Given the description of an element on the screen output the (x, y) to click on. 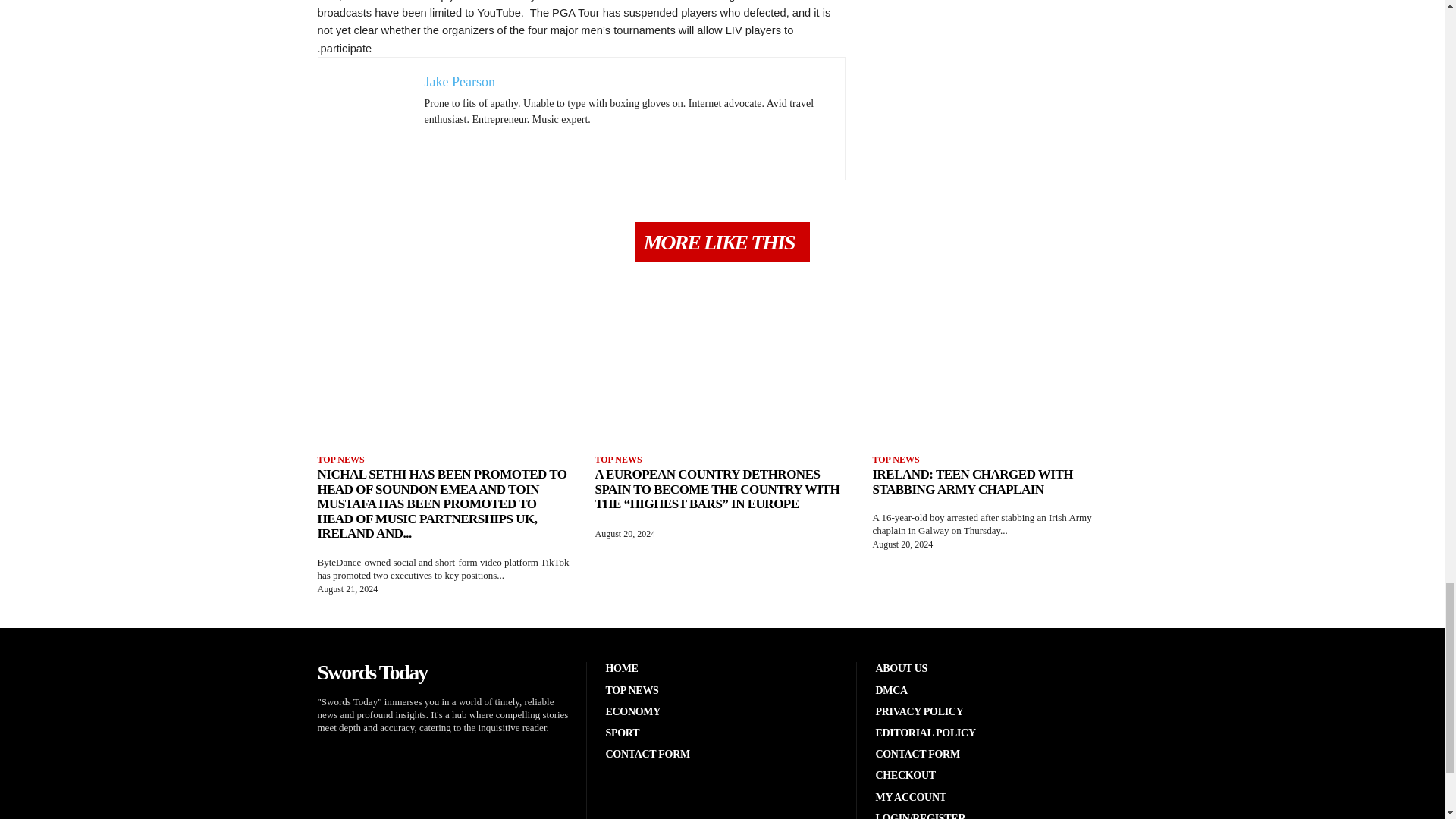
Jake Pearson (460, 81)
